Given the description of an element on the screen output the (x, y) to click on. 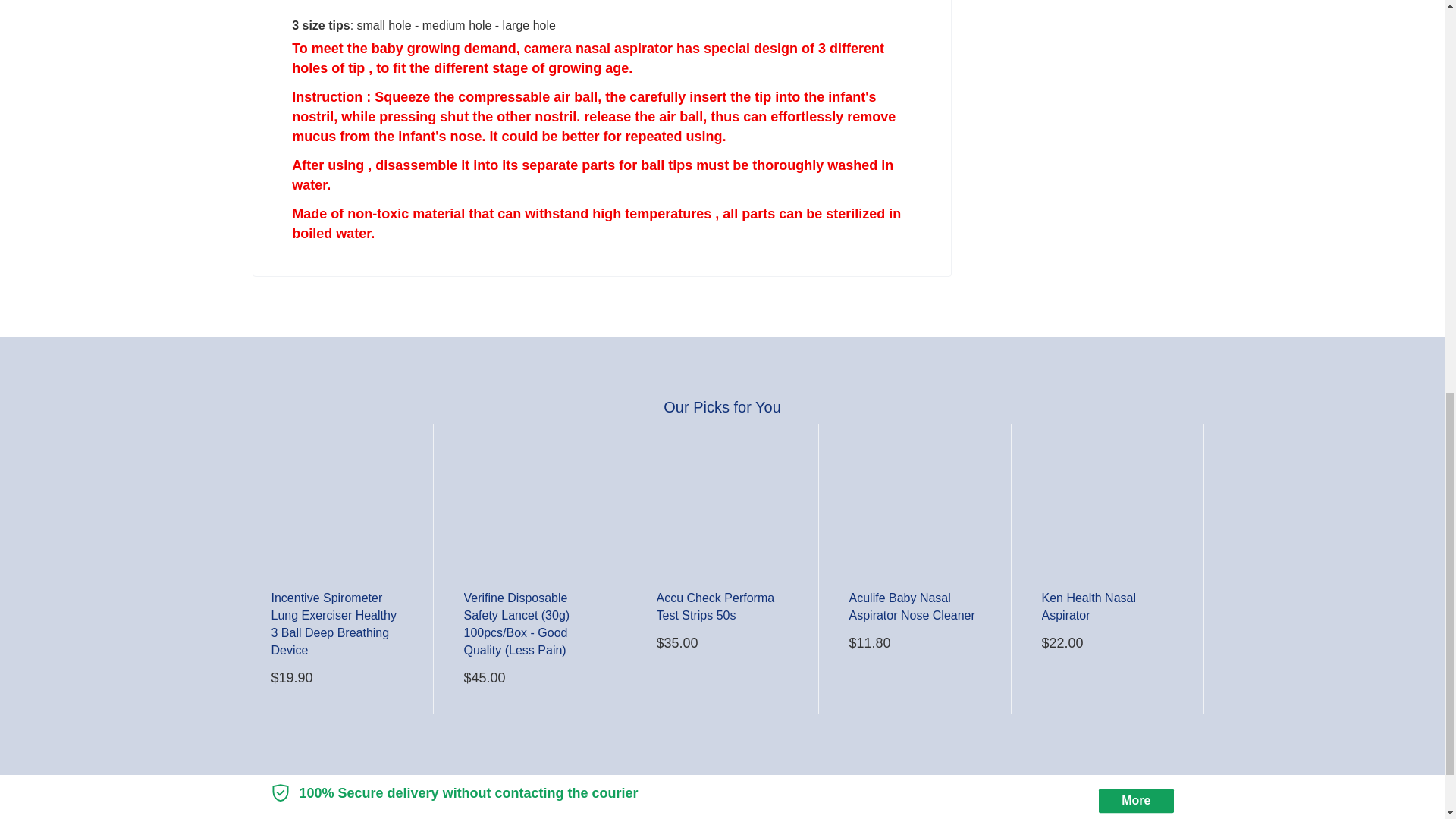
Accu Check Performa Test Strips 50s (715, 606)
